Given the description of an element on the screen output the (x, y) to click on. 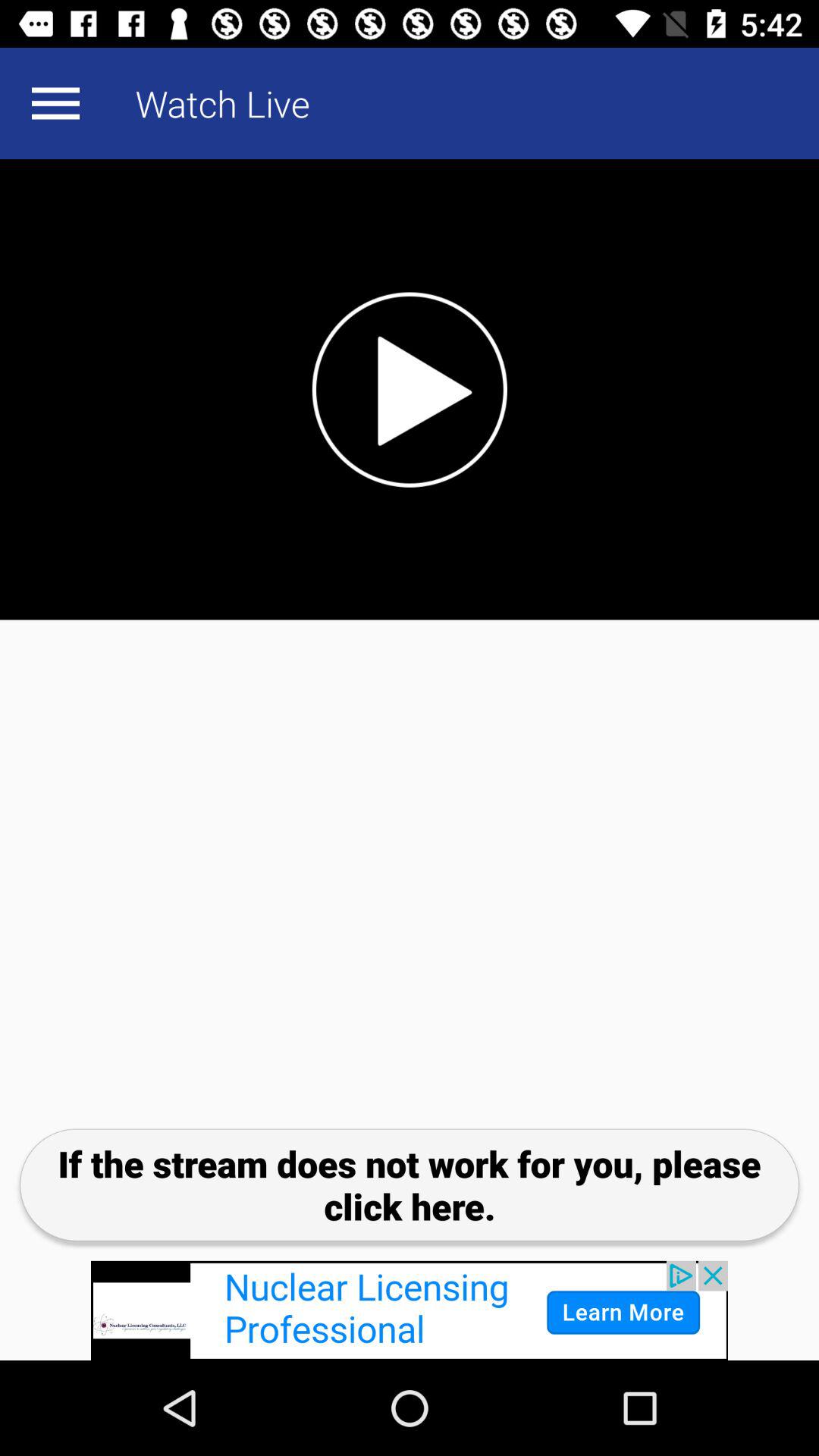
video play button (409, 389)
